Given the description of an element on the screen output the (x, y) to click on. 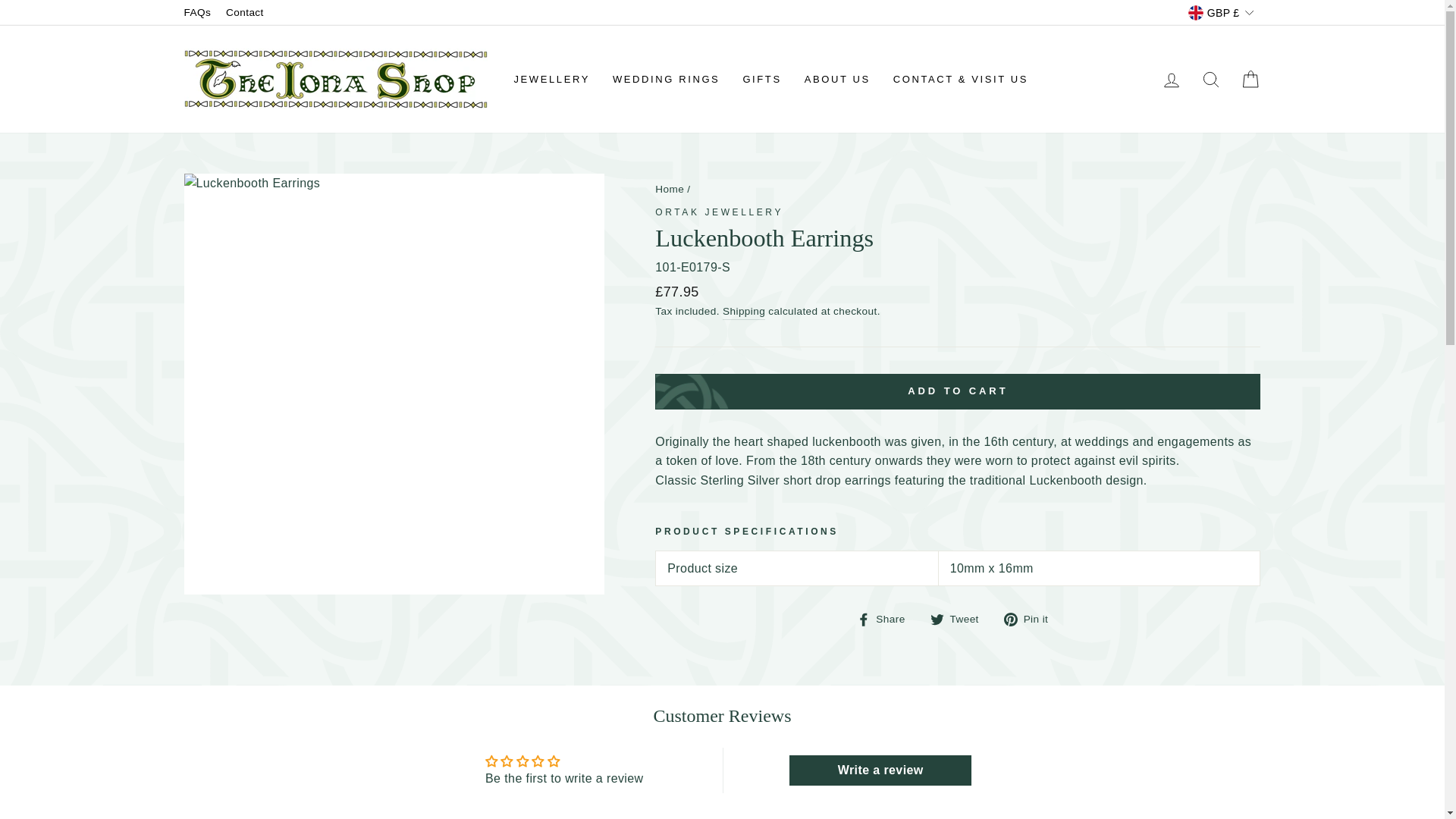
Share on Facebook (887, 618)
Pin on Pinterest (1031, 618)
Back to the frontpage (669, 188)
Ortak Jewellery (719, 212)
Tweet on Twitter (960, 618)
